Given the description of an element on the screen output the (x, y) to click on. 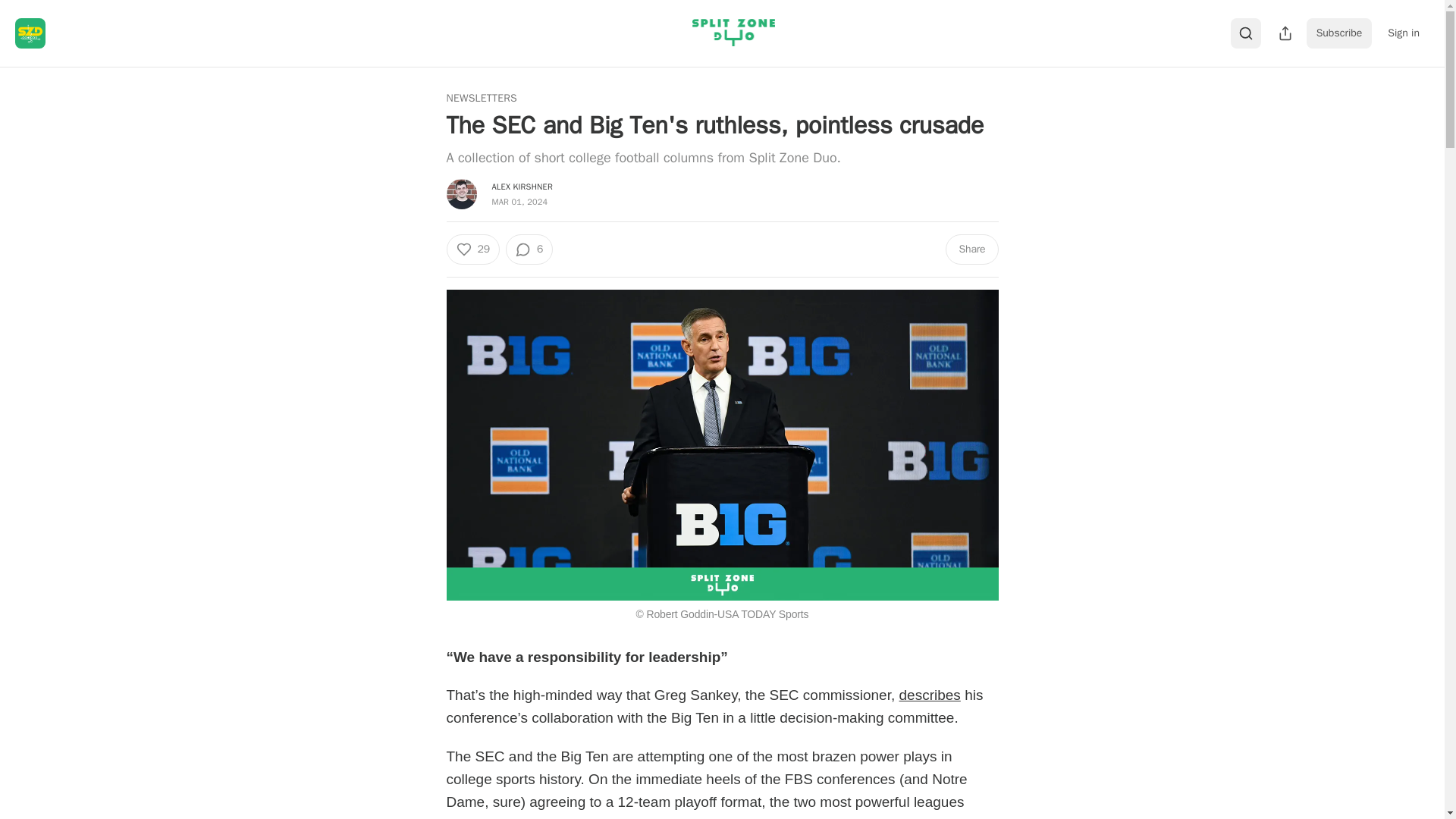
ALEX KIRSHNER (521, 185)
Share (970, 249)
29 (472, 249)
Subscribe (1339, 33)
Sign in (1403, 33)
NEWSLETTERS (480, 98)
describes (929, 694)
6 (529, 249)
